Given the description of an element on the screen output the (x, y) to click on. 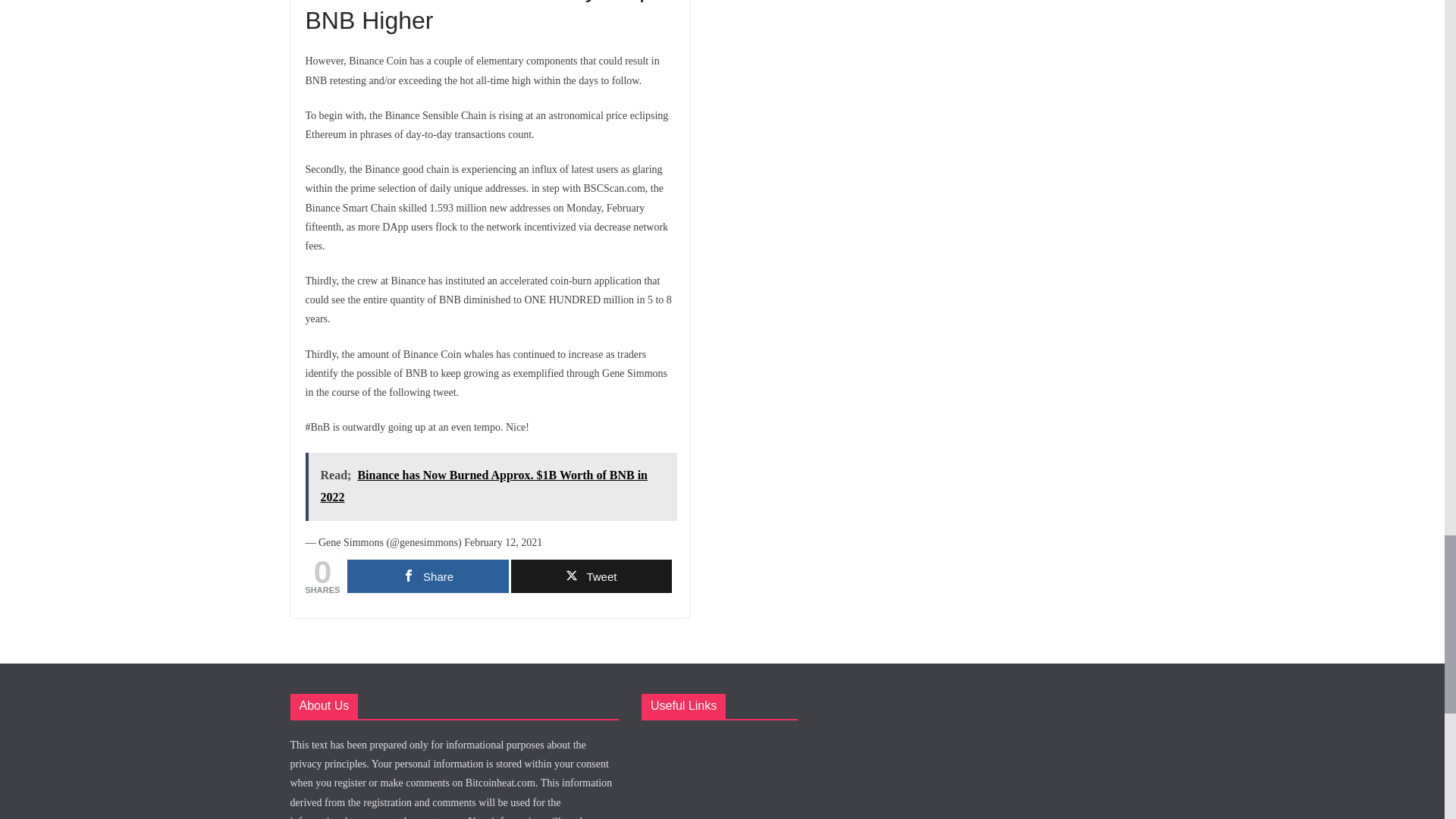
Share (427, 575)
Tweet (591, 575)
